Given the description of an element on the screen output the (x, y) to click on. 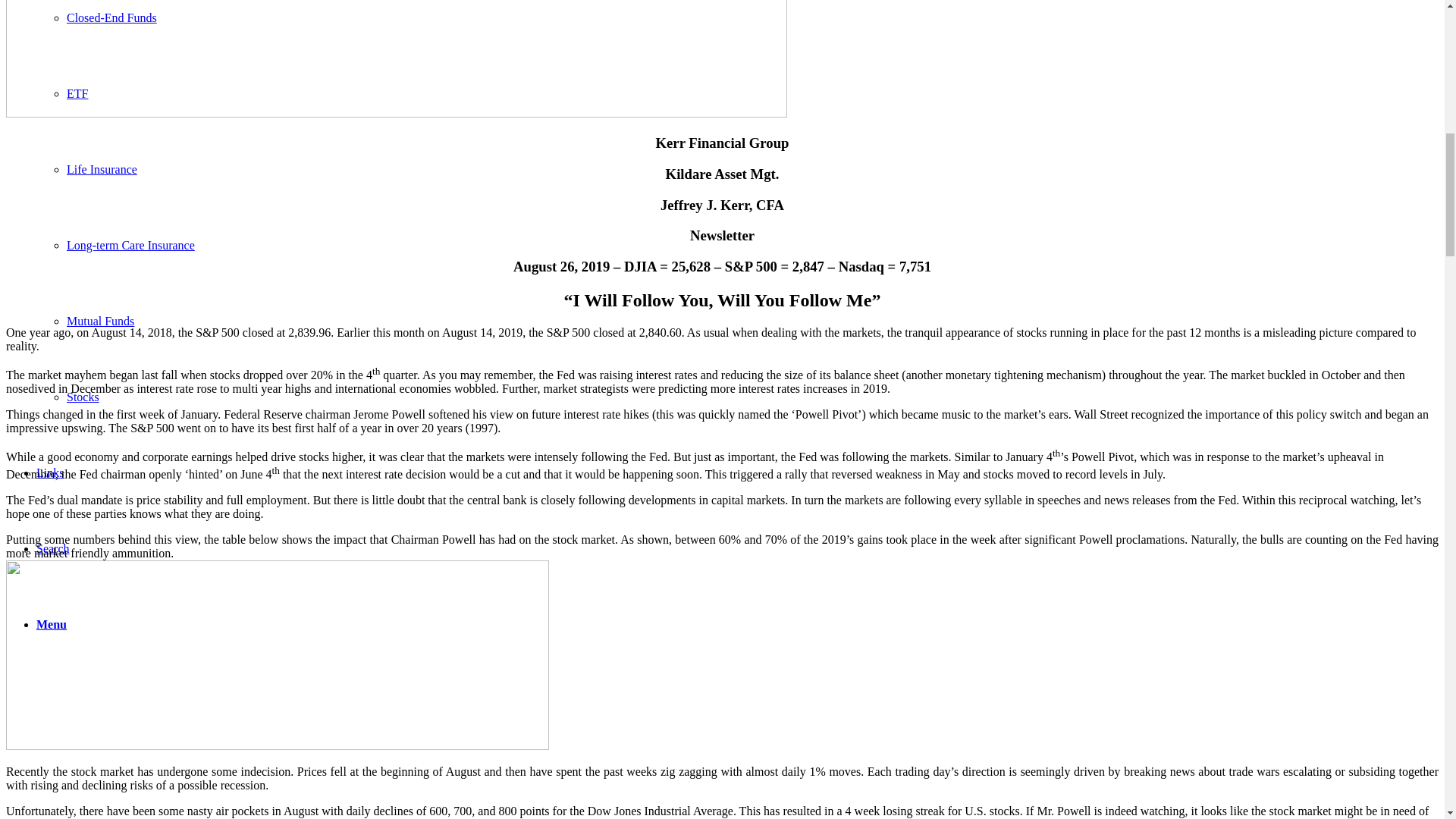
ETF (76, 92)
Links (50, 472)
Menu (51, 624)
Closed-End Funds (111, 17)
Search (52, 548)
Life Insurance (101, 169)
Mutual Funds (99, 320)
Stocks (82, 396)
Long-term Care Insurance (130, 245)
